Given the description of an element on the screen output the (x, y) to click on. 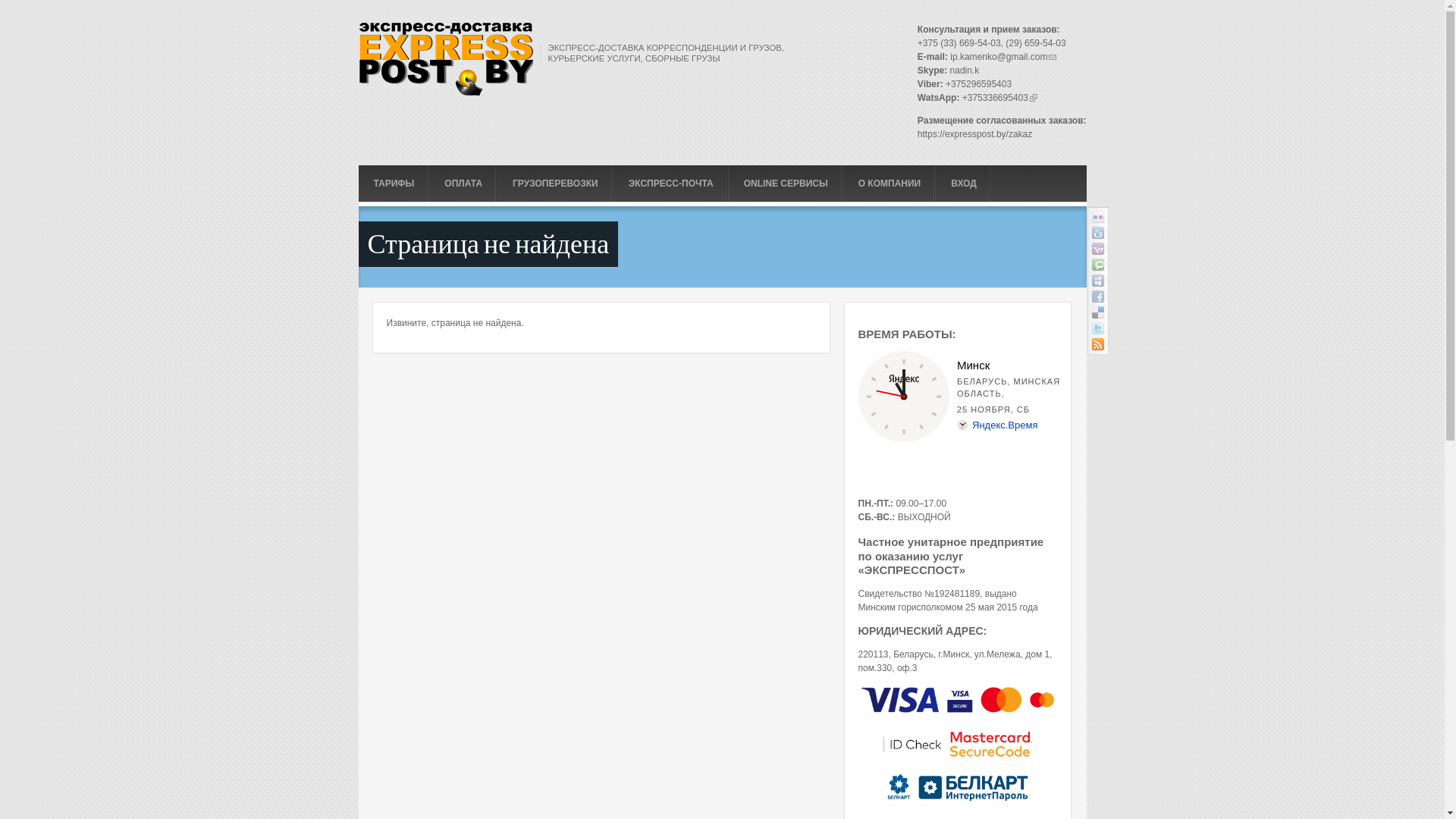
https://expresspost.by/zakaz Element type: text (974, 133)
  Element type: text (1098, 312)
  Element type: text (1098, 248)
(29) 659-54-03 Element type: text (1035, 42)
  Element type: text (1098, 232)
  Element type: text (1098, 296)
  Element type: text (1098, 328)
  Element type: text (1098, 264)
+375296595403 Element type: text (978, 83)
+375 (33) 669-54-03 Element type: text (959, 42)
  Element type: text (1098, 216)
  Element type: text (1098, 280)
  Element type: text (1098, 344)
nadin.k Element type: text (964, 70)
